Given the description of an element on the screen output the (x, y) to click on. 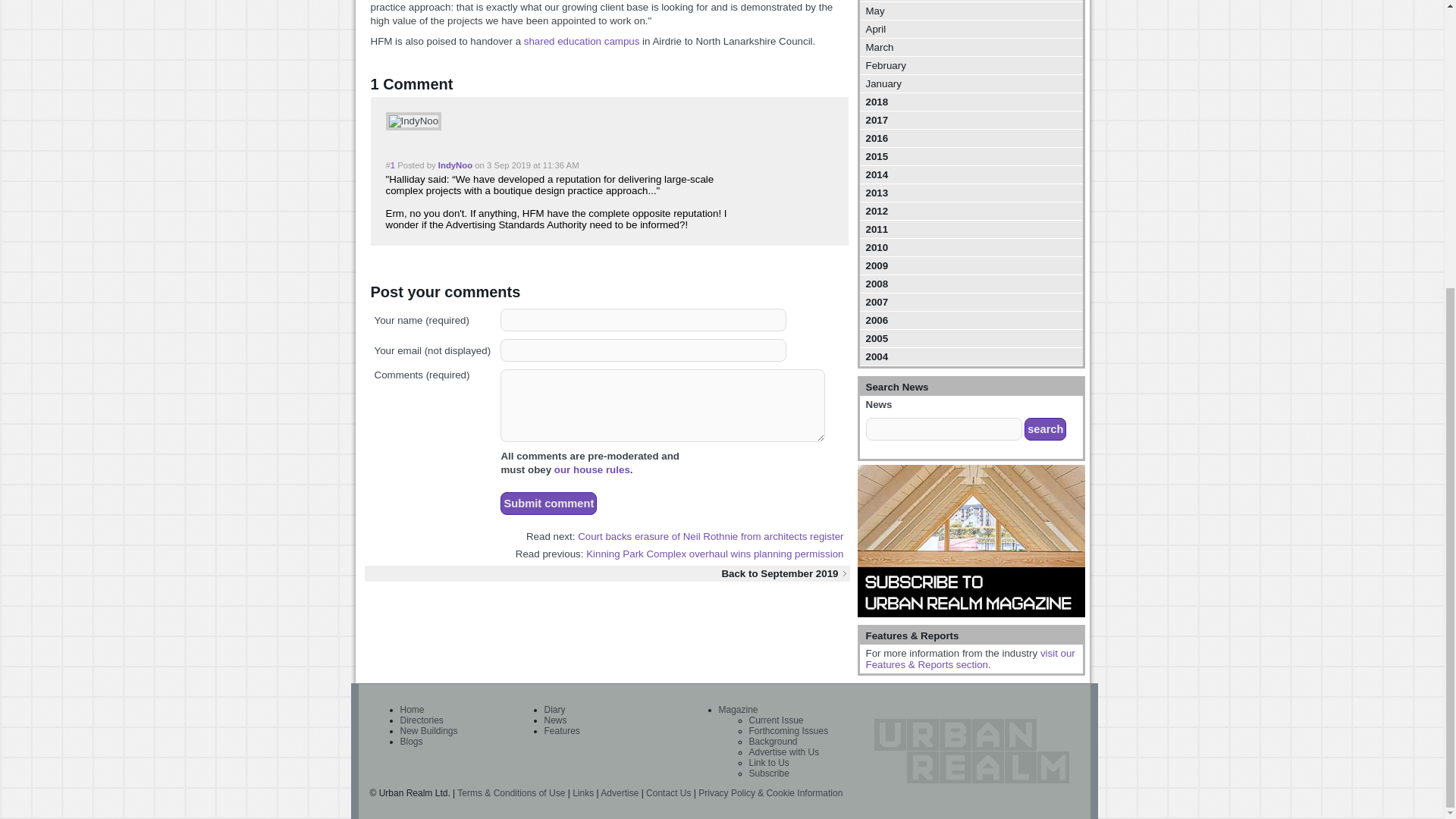
Submit comment (548, 503)
our house rules (592, 469)
Court backs erasure of Neil Rothnie from architects register (710, 536)
shared education campus (582, 41)
IndyNoo (413, 121)
Submit comment (548, 503)
Subscribe to Urban Realm Magazine (970, 541)
search (1045, 428)
Kinning Park Complex overhaul wins planning permission (714, 553)
